Given the description of an element on the screen output the (x, y) to click on. 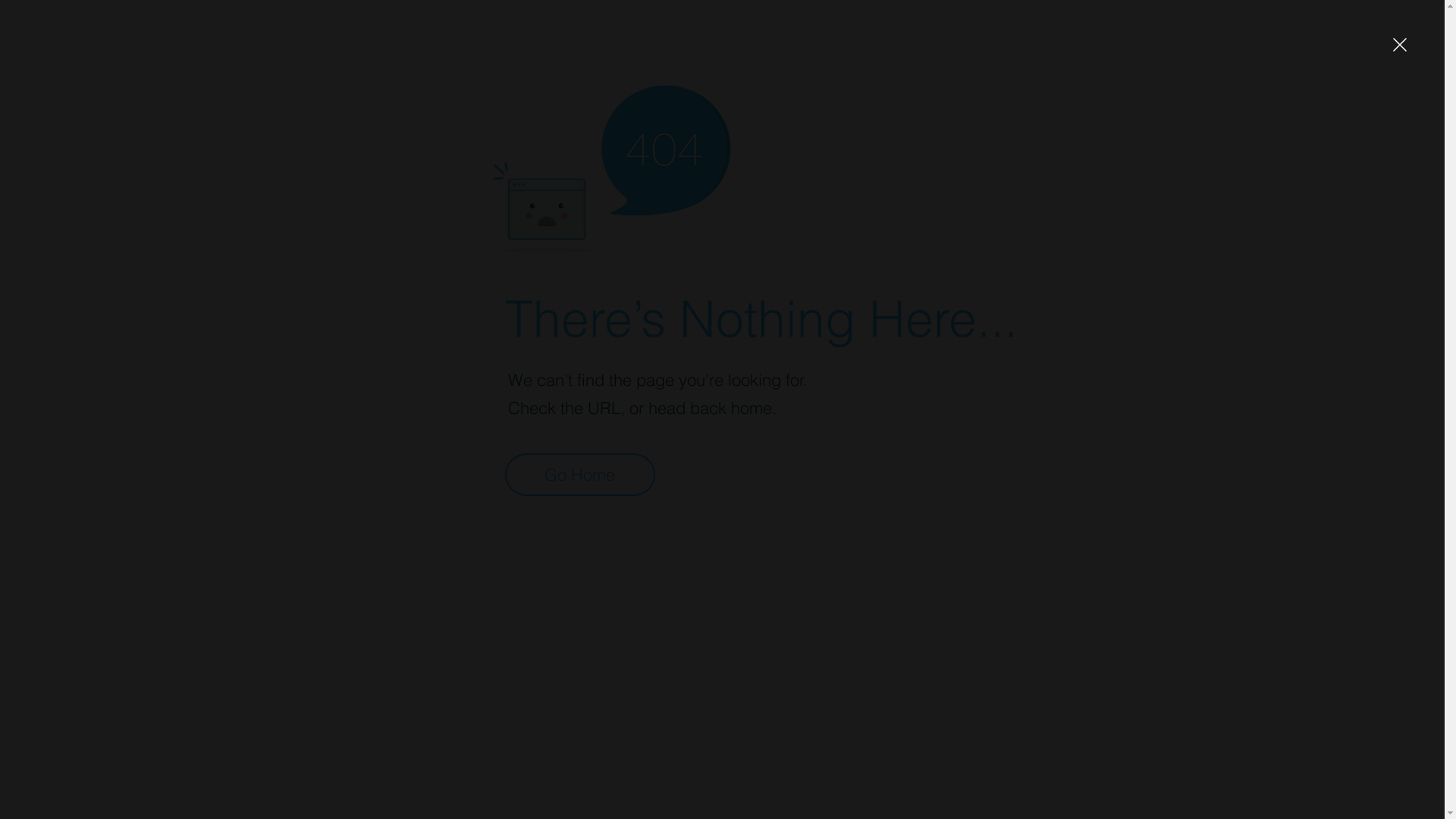
Go Home Element type: text (580, 474)
404-icon_2.png Element type: hover (610, 164)
